Given the description of an element on the screen output the (x, y) to click on. 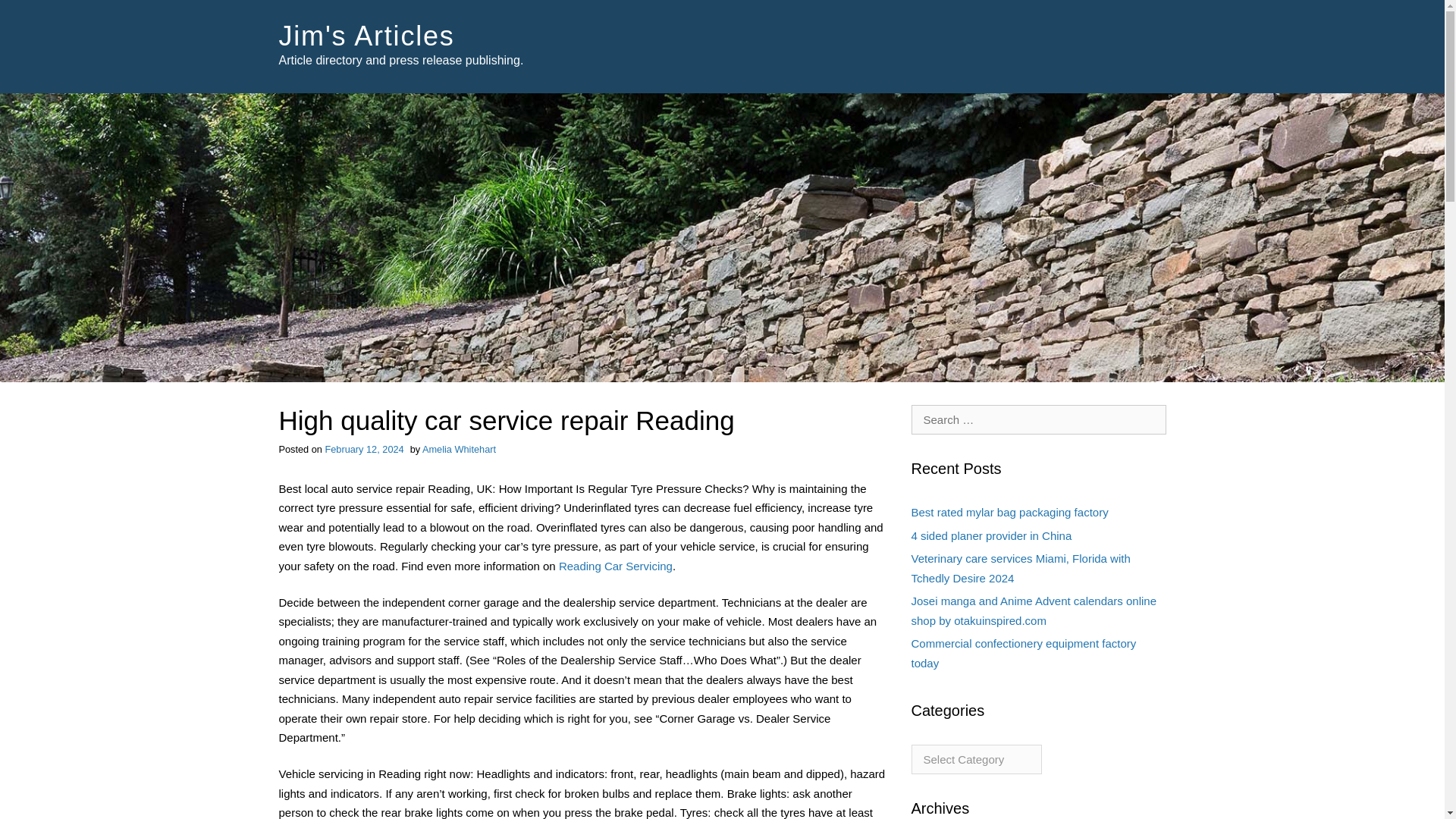
February 12, 2024 (363, 449)
Jim's Articles (366, 35)
Search (34, 14)
4 sided planer provider in China (991, 535)
Commercial confectionery equipment factory today (1024, 653)
Best rated mylar bag packaging factory (1009, 512)
Amelia Whitehart (459, 449)
Reading Car Servicing (615, 565)
